Given the description of an element on the screen output the (x, y) to click on. 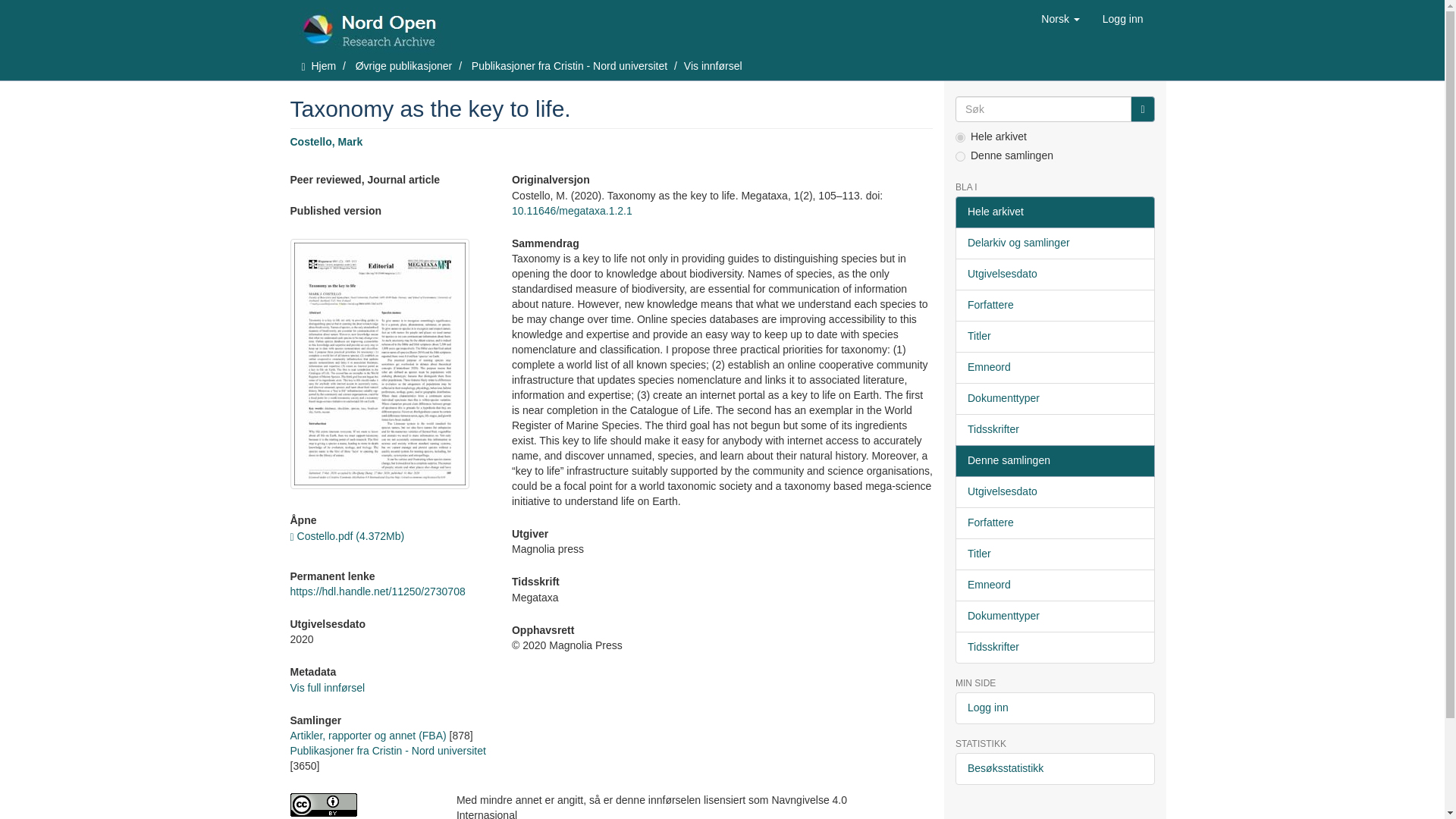
Publikasjoner fra Cristin - Nord universitet (386, 750)
Titler (1054, 336)
Hjem (323, 65)
Logg inn (1122, 18)
Forfattere (1054, 305)
Navngivelse 4.0 Internasjonal (360, 804)
Norsk  (1059, 18)
Hele arkivet (1054, 212)
Delarkiv og samlinger (1054, 243)
Costello, Mark (325, 141)
Publikasjoner fra Cristin - Nord universitet (568, 65)
Utgivelsesdato (1054, 274)
